Given the description of an element on the screen output the (x, y) to click on. 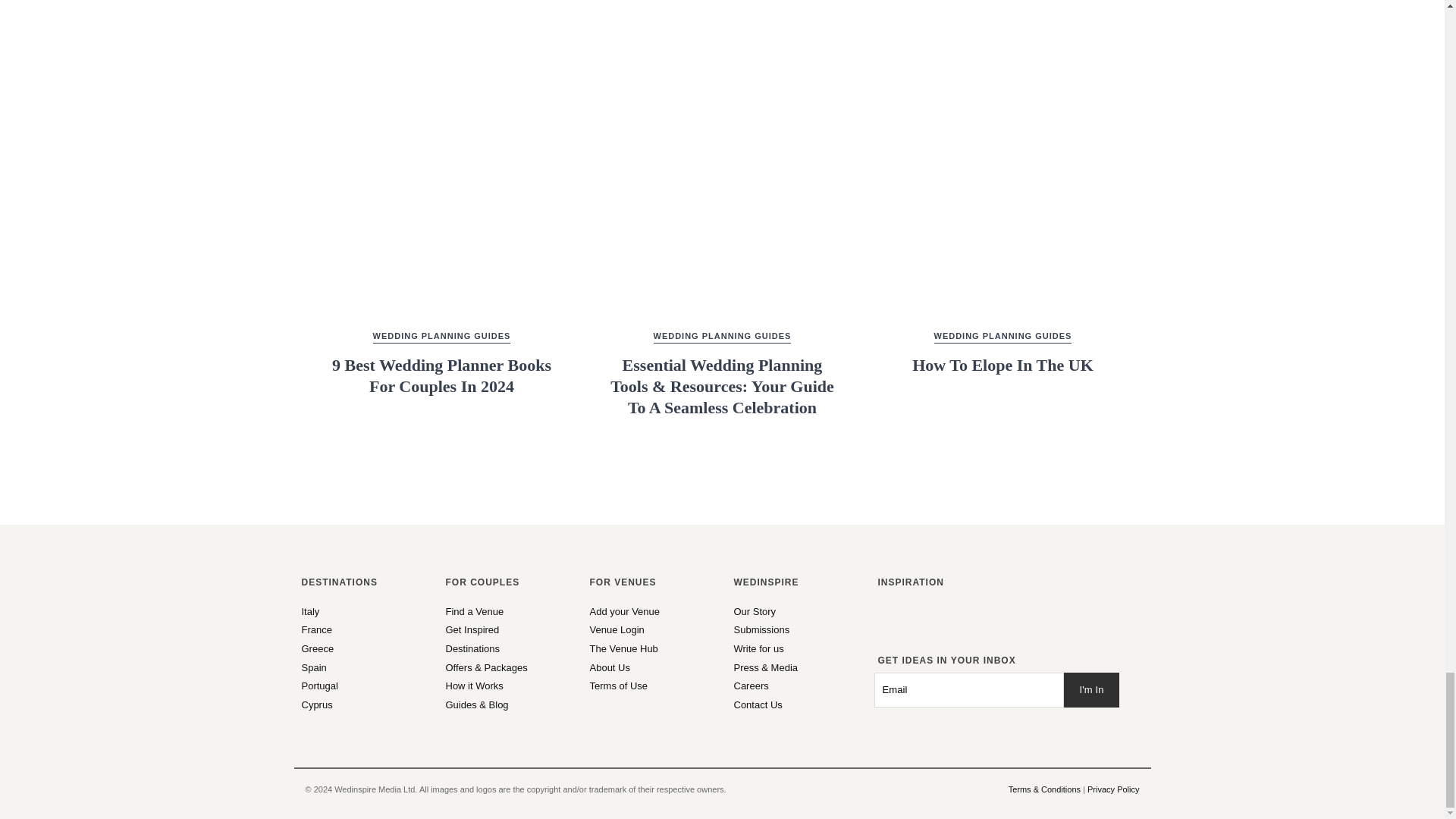
9 Best Wedding Planner Books for Couples in 2024 (440, 362)
Linkedin (923, 620)
Facebook (896, 620)
Pinterest (909, 620)
How to Elope in the UK (1002, 162)
Instagram (882, 620)
How to Elope in the UK (1002, 352)
9 Best Wedding Planner Books for Couples in 2024 (440, 162)
